Given the description of an element on the screen output the (x, y) to click on. 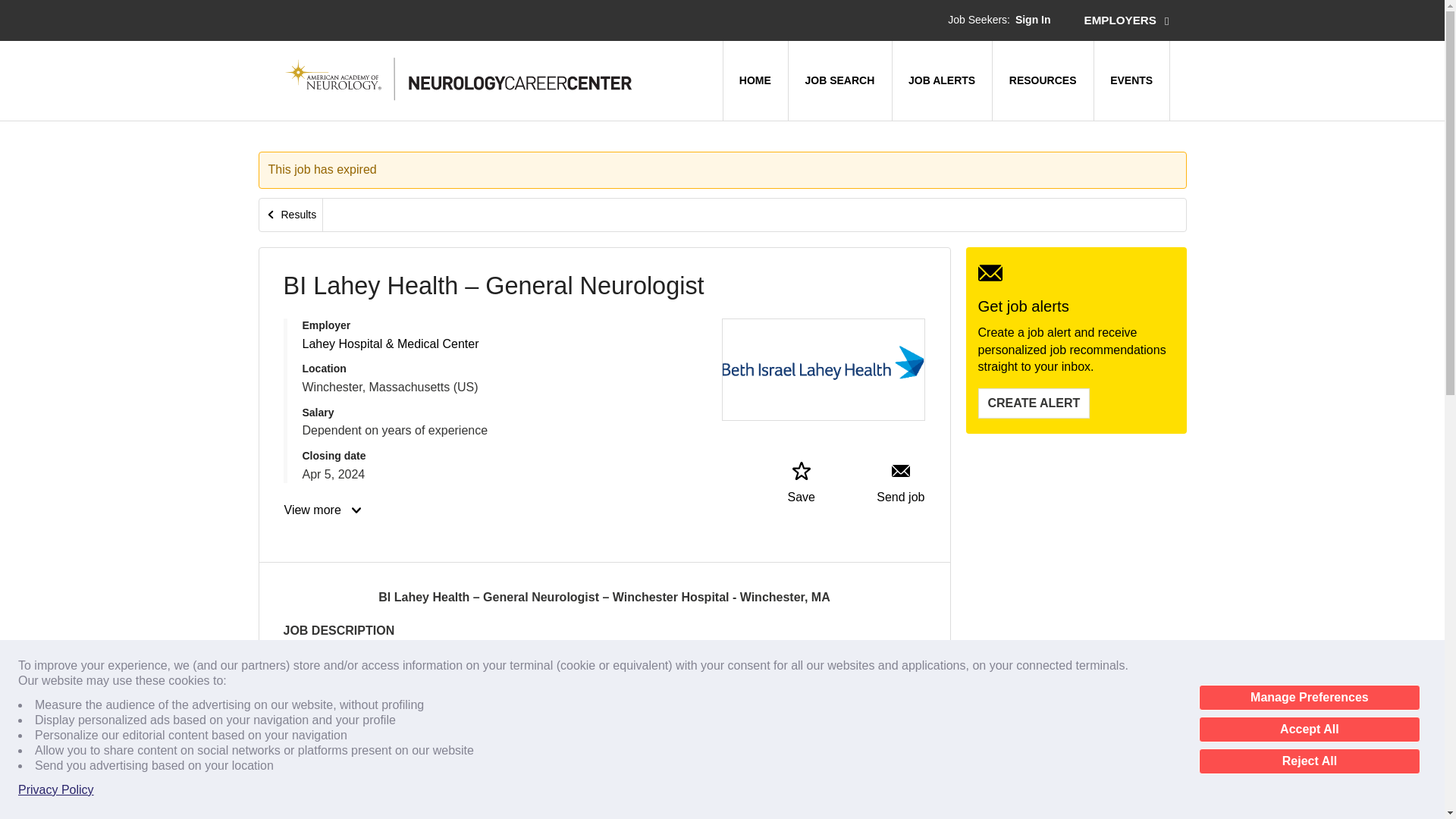
Neurology Career Center (460, 78)
Reject All (1309, 760)
View more (323, 510)
CREATE ALERT (1034, 403)
Sign In (1032, 20)
Results (291, 214)
EVENTS (1131, 80)
EMPLOYERS (1126, 19)
Privacy Policy (55, 789)
Manage Preferences (1309, 697)
JOB ALERTS (941, 80)
HOME (755, 80)
RESOURCES (1043, 80)
JOB SEARCH (840, 80)
Accept All (1309, 729)
